Given the description of an element on the screen output the (x, y) to click on. 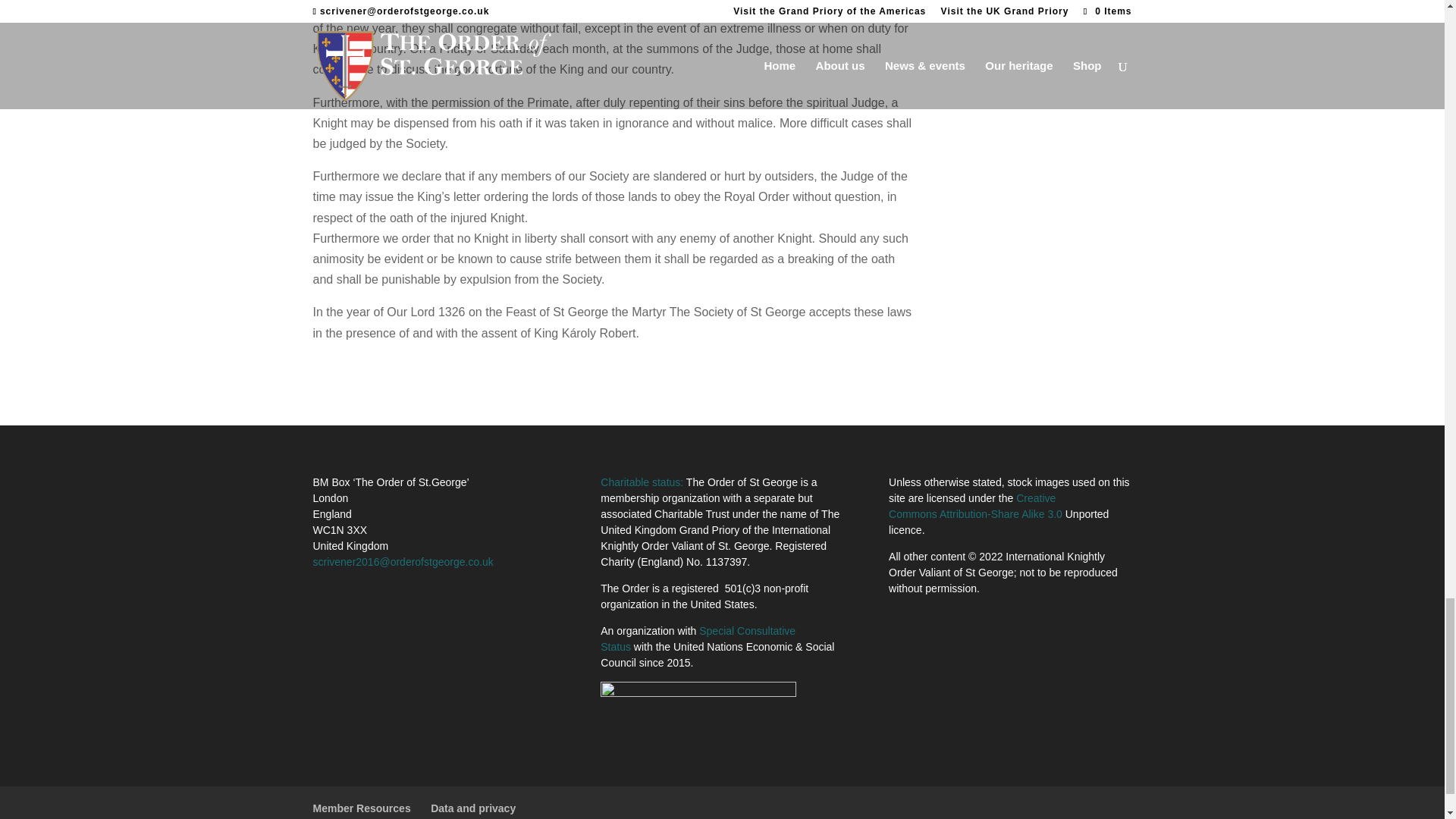
Special Consultative Status (696, 638)
Charitable status: (640, 481)
Member Resources (361, 808)
Data and privacy (472, 808)
Attribution-Share Alike 3.0 (1000, 513)
Creative Commons (971, 506)
